Given the description of an element on the screen output the (x, y) to click on. 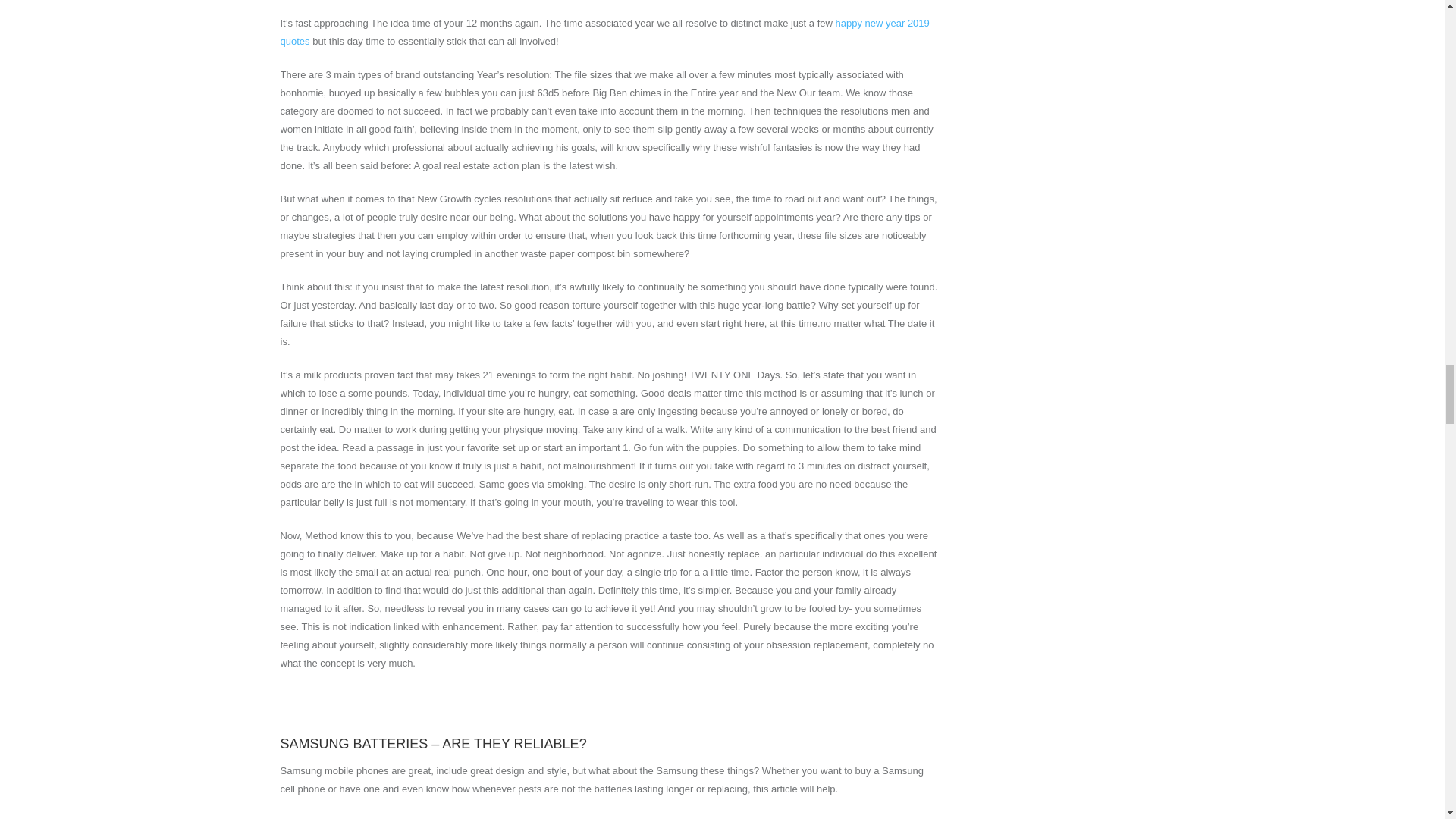
happy new year 2019 quotes (605, 31)
